Given the description of an element on the screen output the (x, y) to click on. 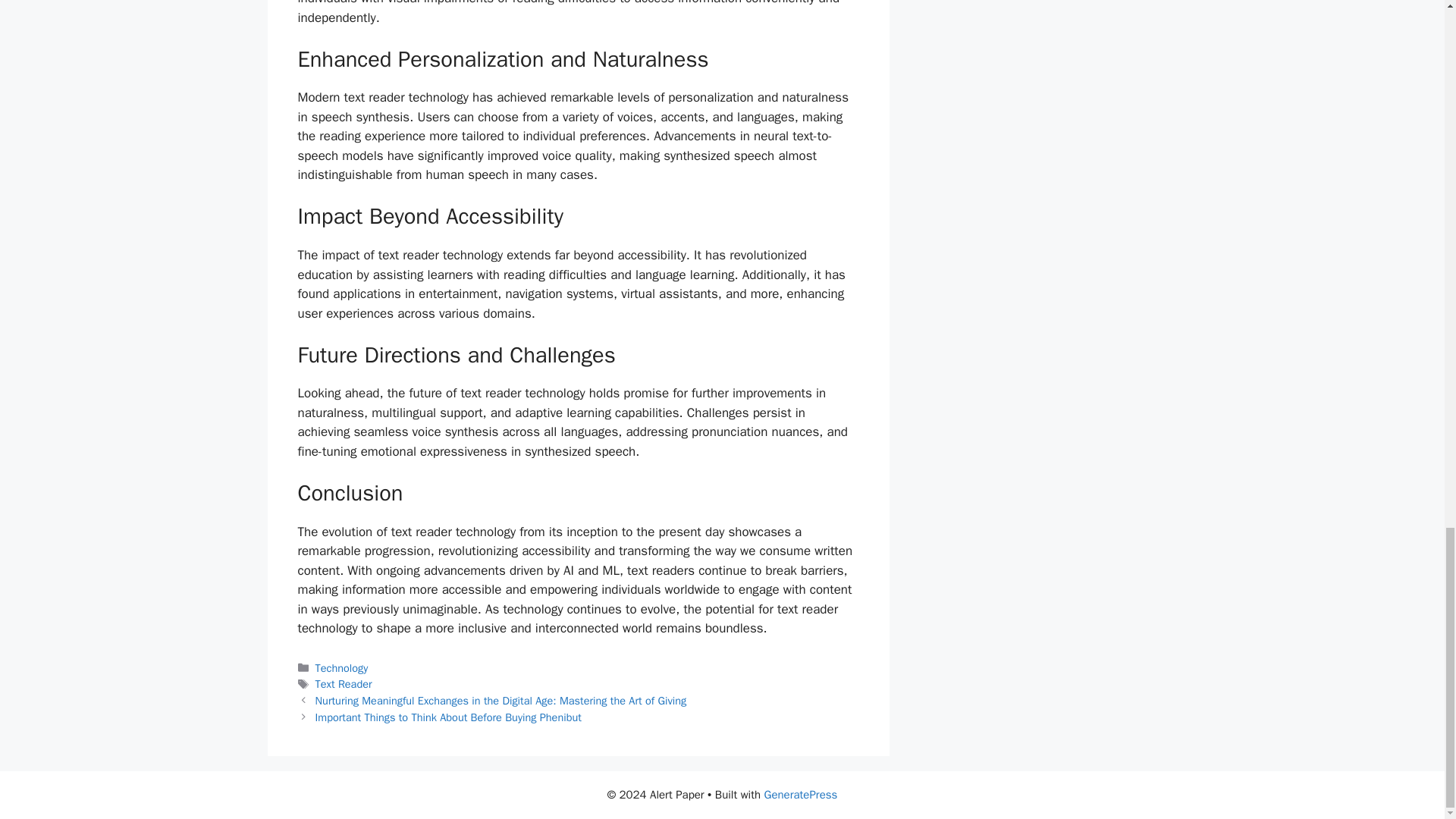
Important Things to Think About Before Buying Phenibut (447, 716)
GeneratePress (801, 794)
Technology (341, 667)
Text Reader (343, 684)
